Given the description of an element on the screen output the (x, y) to click on. 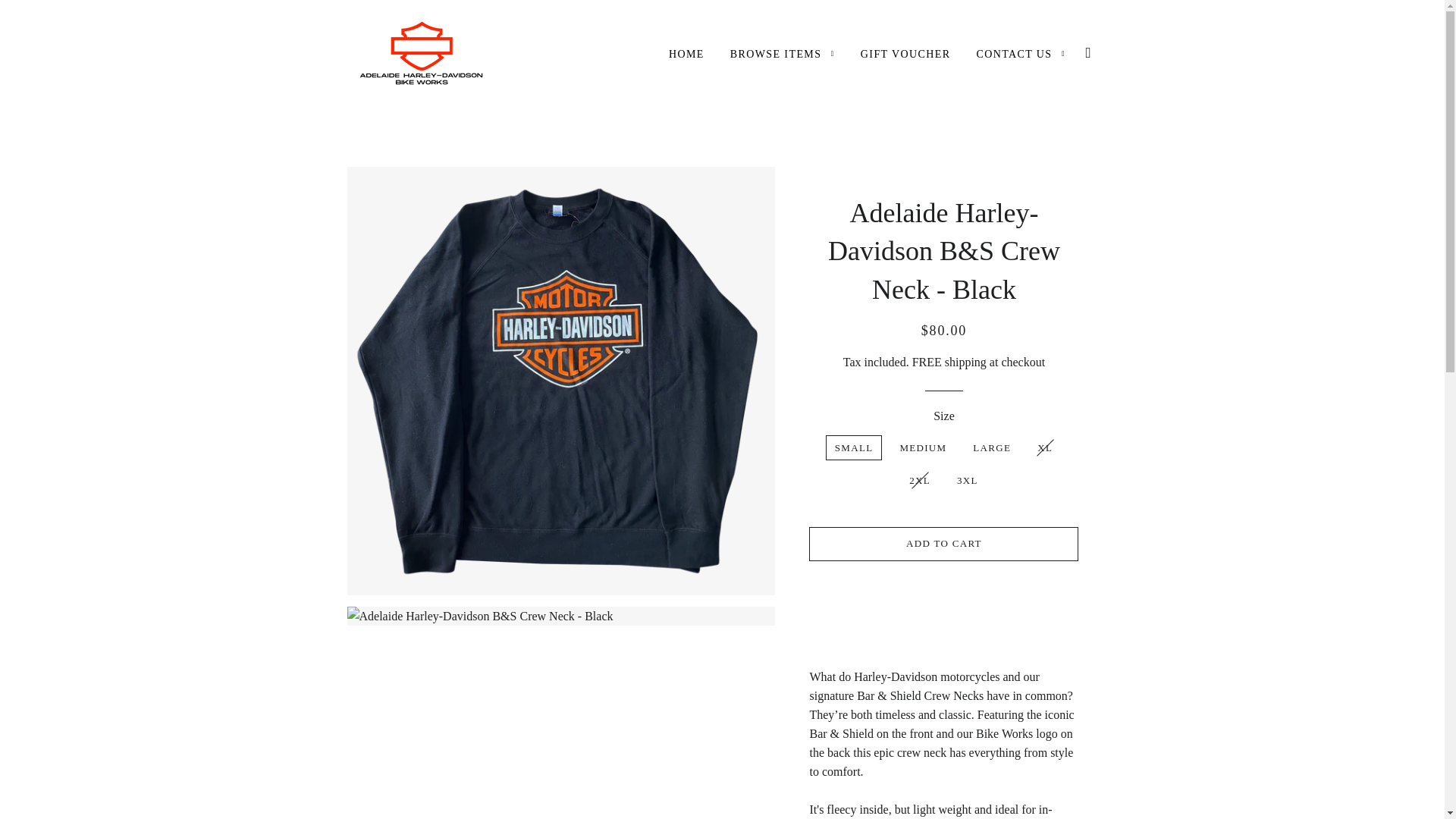
HOME (687, 54)
BROWSE ITEMS (782, 54)
